Given the description of an element on the screen output the (x, y) to click on. 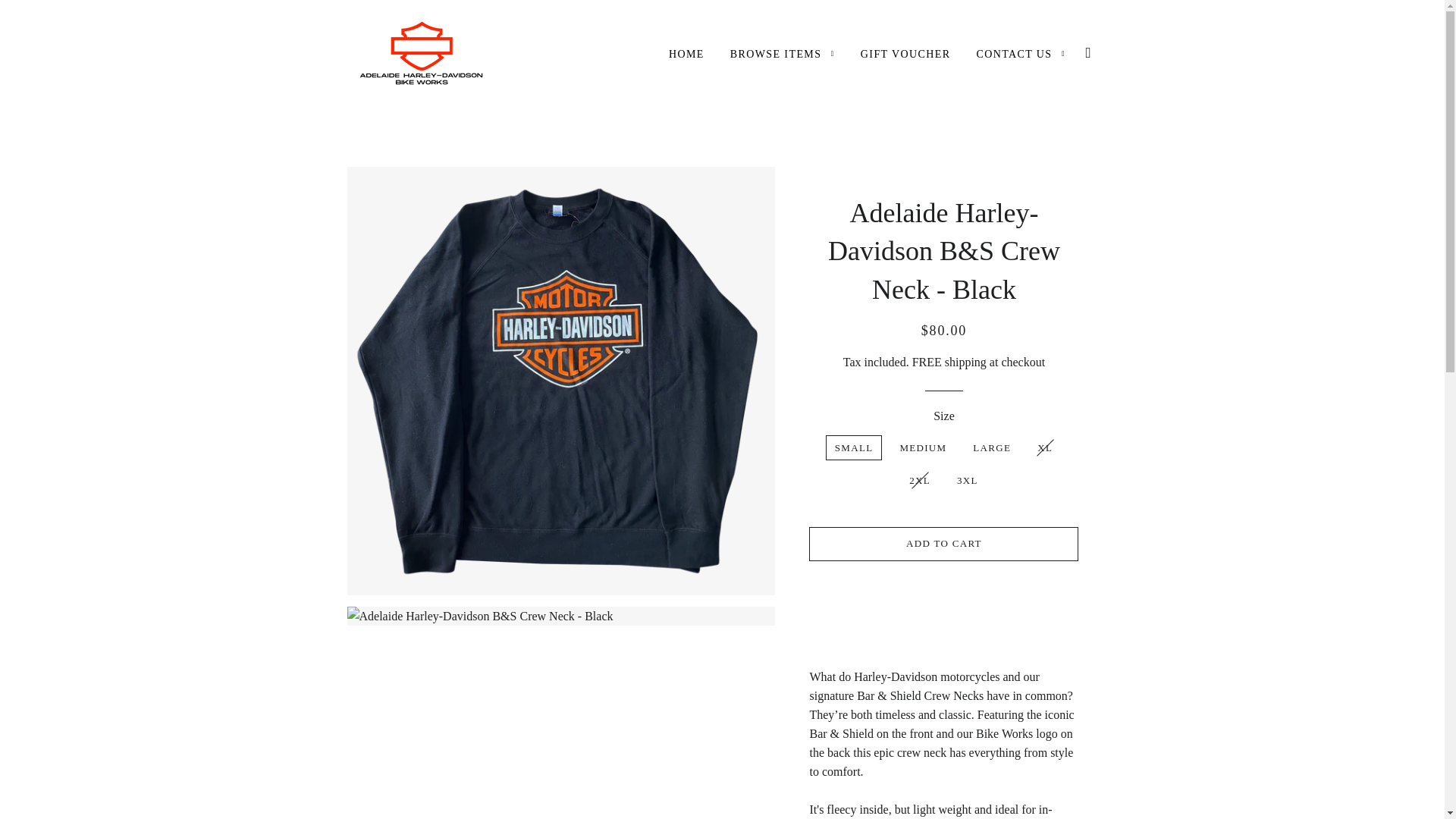
HOME (687, 54)
BROWSE ITEMS (782, 54)
